Given the description of an element on the screen output the (x, y) to click on. 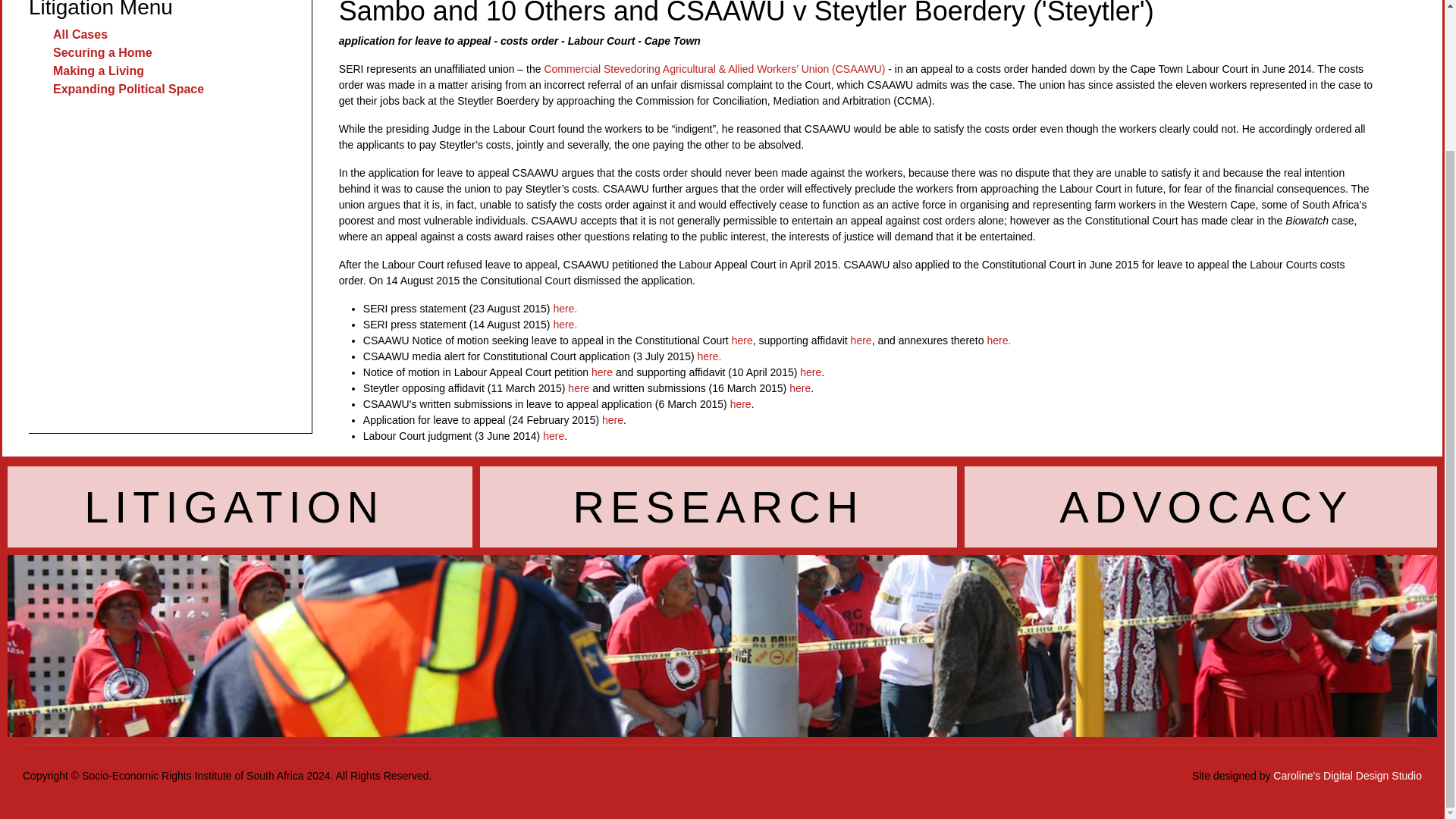
Making a Living (98, 70)
Securing a Home (102, 51)
Expanding Political Space (127, 88)
All Cases (79, 33)
